Given the description of an element on the screen output the (x, y) to click on. 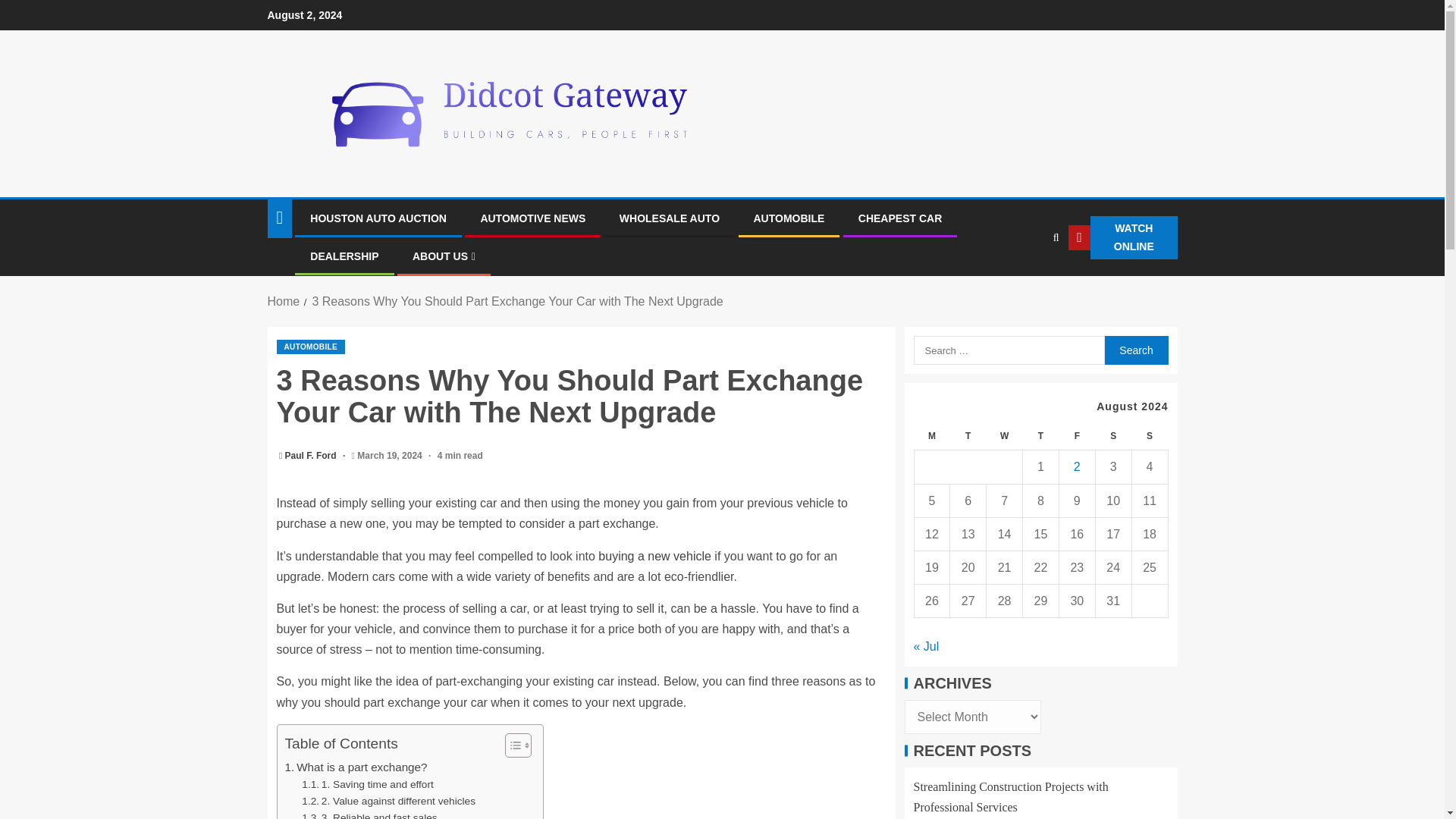
Paul F. Ford (312, 455)
ABOUT US (444, 256)
CHEAPEST CAR (900, 218)
Search (1135, 349)
Home (282, 300)
3. Reliable and fast sales (368, 814)
Search (1135, 349)
1. Saving time and effort (367, 784)
What is a part exchange? (356, 767)
Monday (932, 436)
Friday (1076, 436)
1. Saving time and effort (367, 784)
AUTOMOBILE (310, 346)
AUTOMOBILE (789, 218)
